Given the description of an element on the screen output the (x, y) to click on. 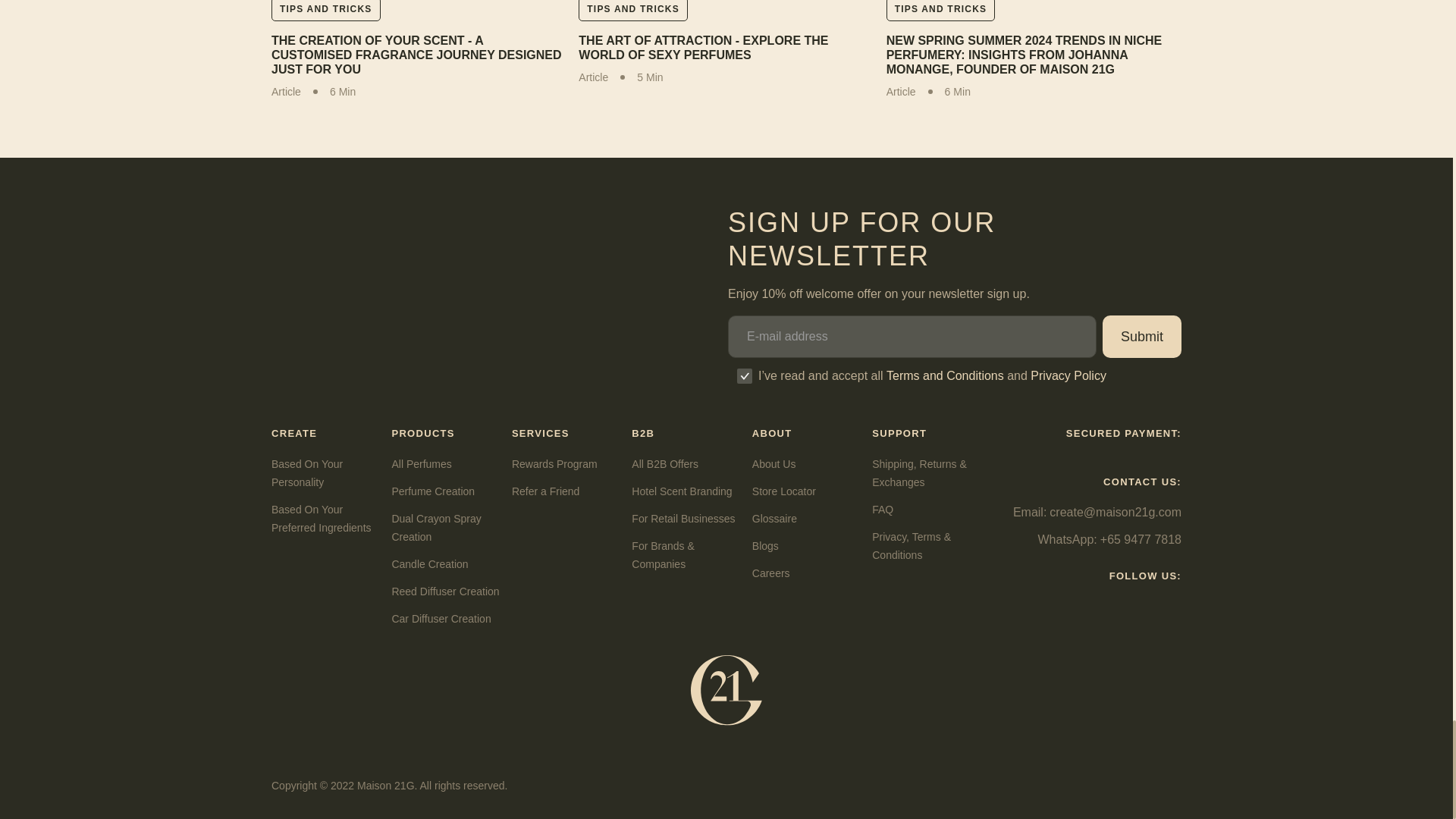
Submit (1141, 336)
Submit (1141, 336)
Terms and Conditions (945, 375)
